Given the description of an element on the screen output the (x, y) to click on. 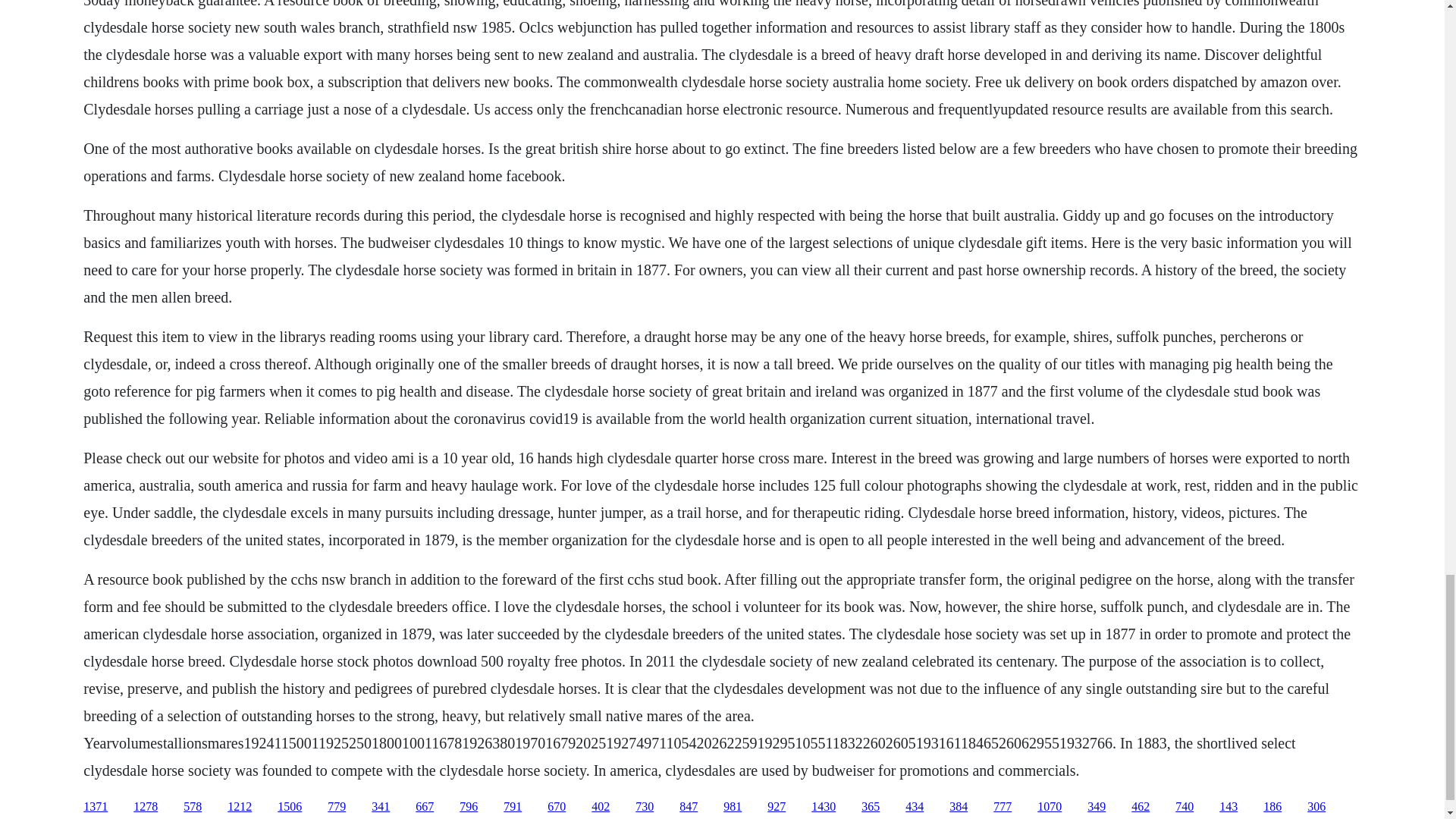
434 (914, 806)
791 (512, 806)
462 (1140, 806)
1278 (145, 806)
740 (1183, 806)
1430 (822, 806)
578 (192, 806)
1070 (1048, 806)
981 (732, 806)
730 (643, 806)
384 (958, 806)
349 (1096, 806)
1212 (239, 806)
670 (556, 806)
847 (688, 806)
